Given the description of an element on the screen output the (x, y) to click on. 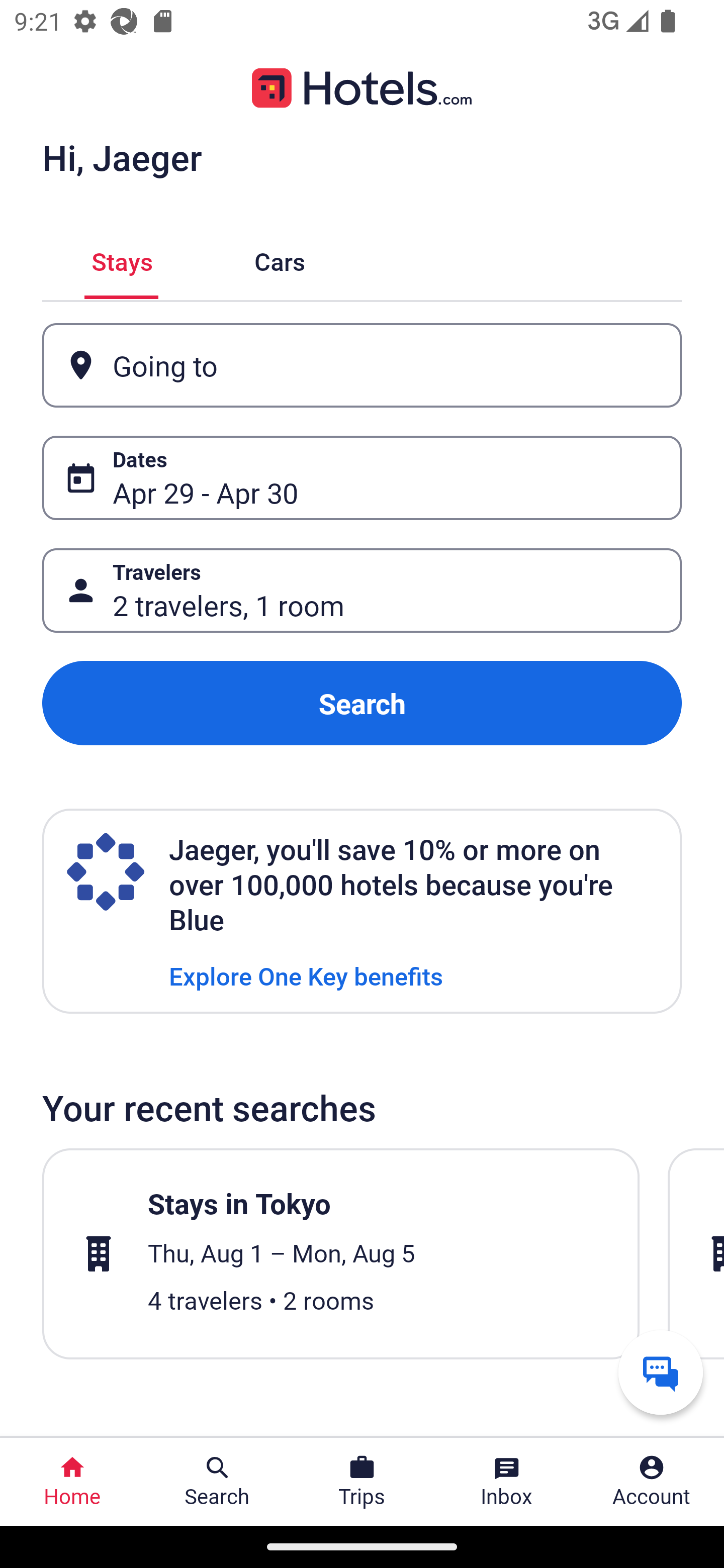
Hi, Jaeger (121, 156)
Cars (279, 259)
Going to Button (361, 365)
Dates Button Apr 29 - Apr 30 (361, 477)
Travelers Button 2 travelers, 1 room (361, 590)
Search (361, 702)
Get help from a virtual agent (660, 1371)
Search Search Button (216, 1481)
Trips Trips Button (361, 1481)
Inbox Inbox Button (506, 1481)
Account Profile. Button (651, 1481)
